Given the description of an element on the screen output the (x, y) to click on. 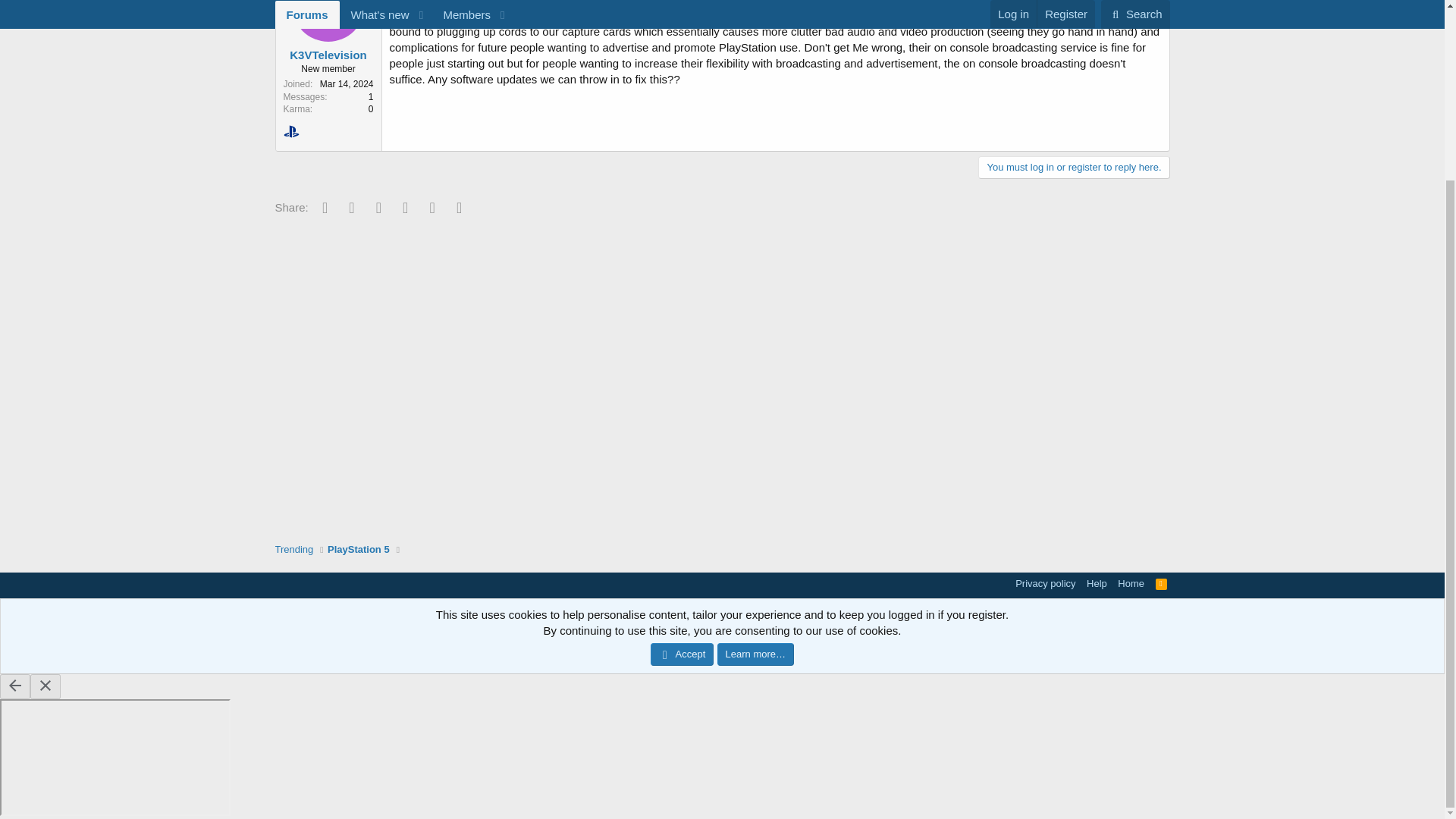
K (328, 20)
You must log in or register to reply here. (1073, 167)
K3VTelevision (327, 54)
RSS (1161, 583)
